Given the description of an element on the screen output the (x, y) to click on. 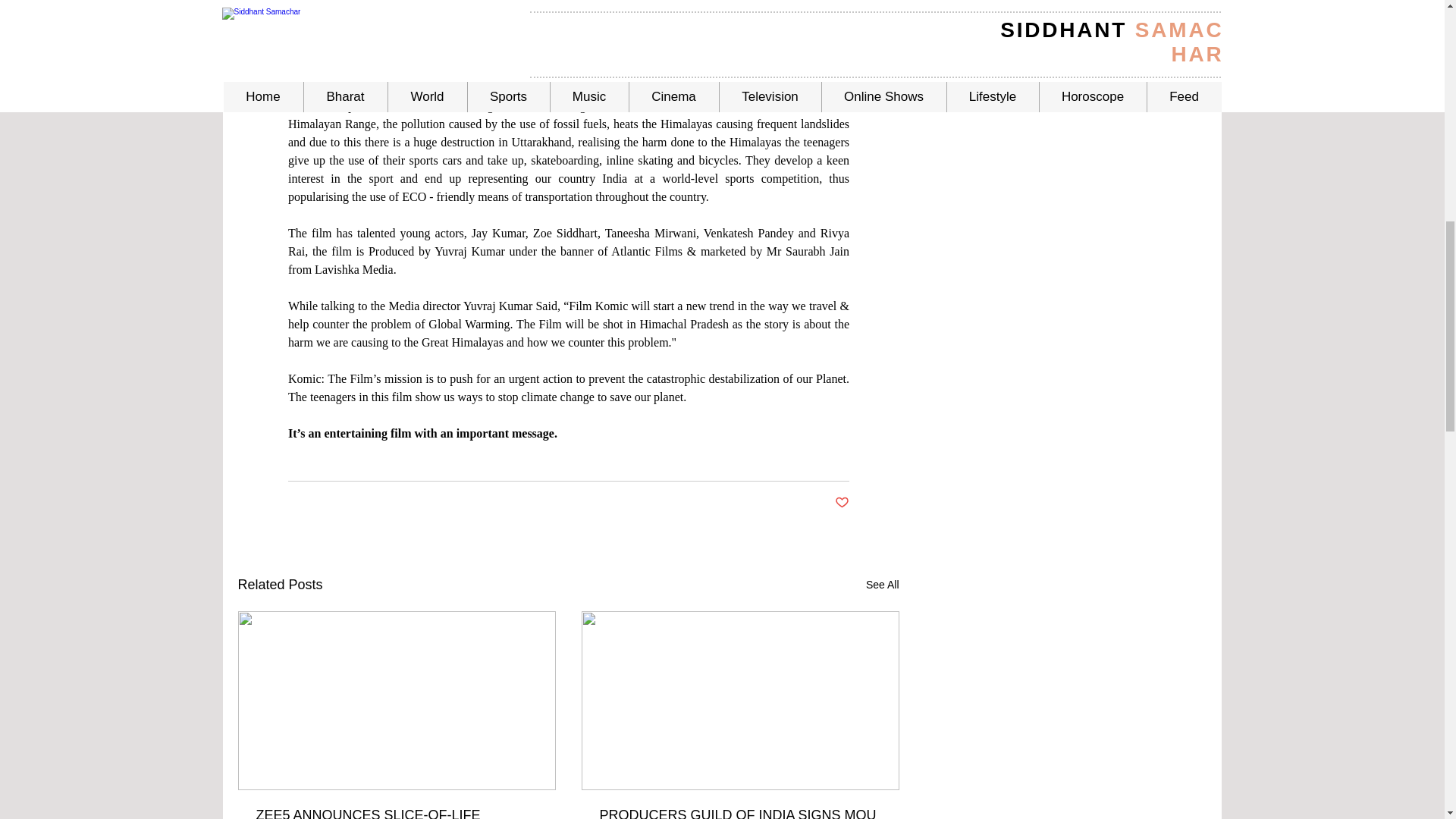
Post not marked as liked (841, 503)
See All (882, 585)
